Given the description of an element on the screen output the (x, y) to click on. 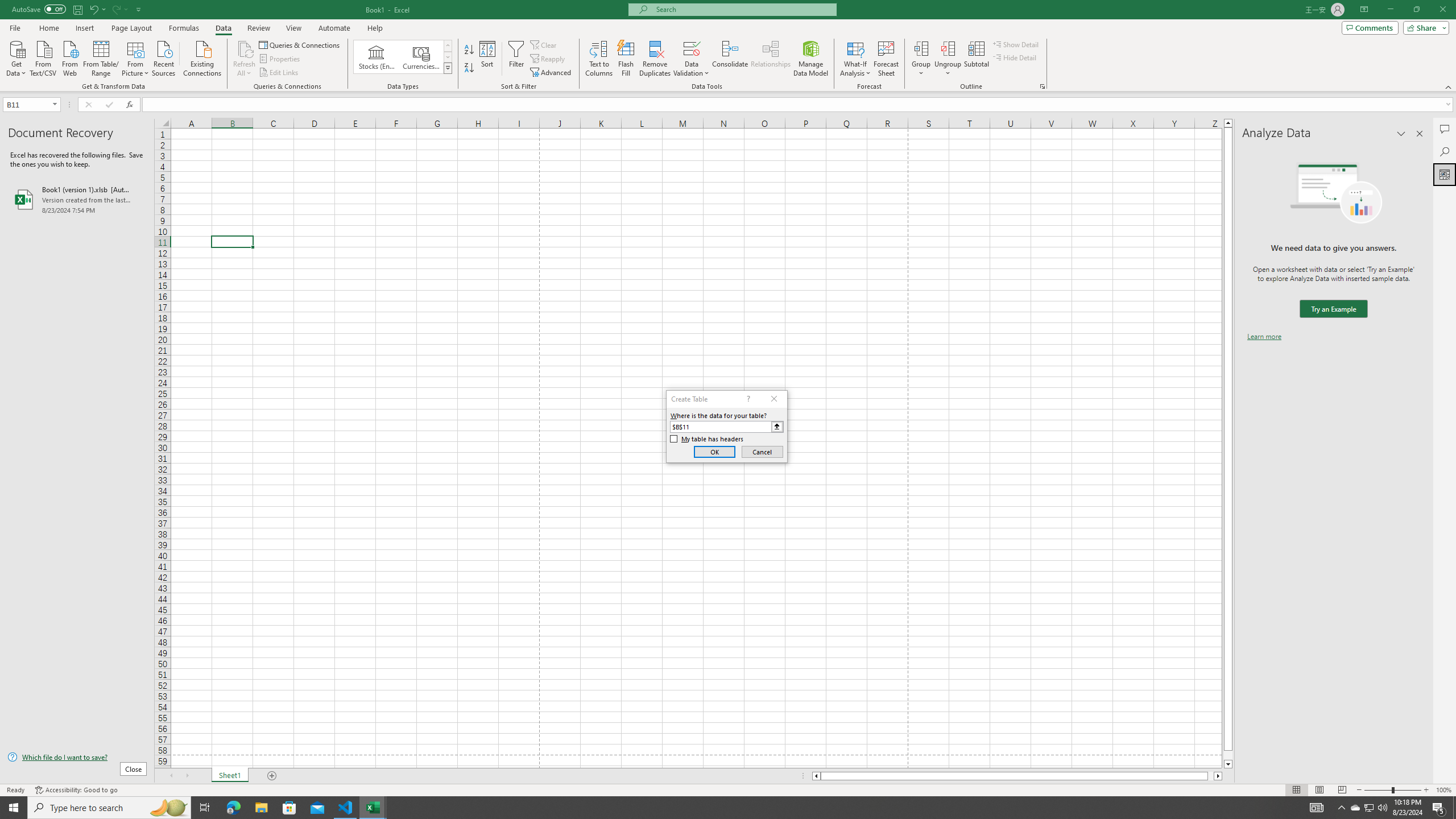
From Picture (135, 57)
